Given the description of an element on the screen output the (x, y) to click on. 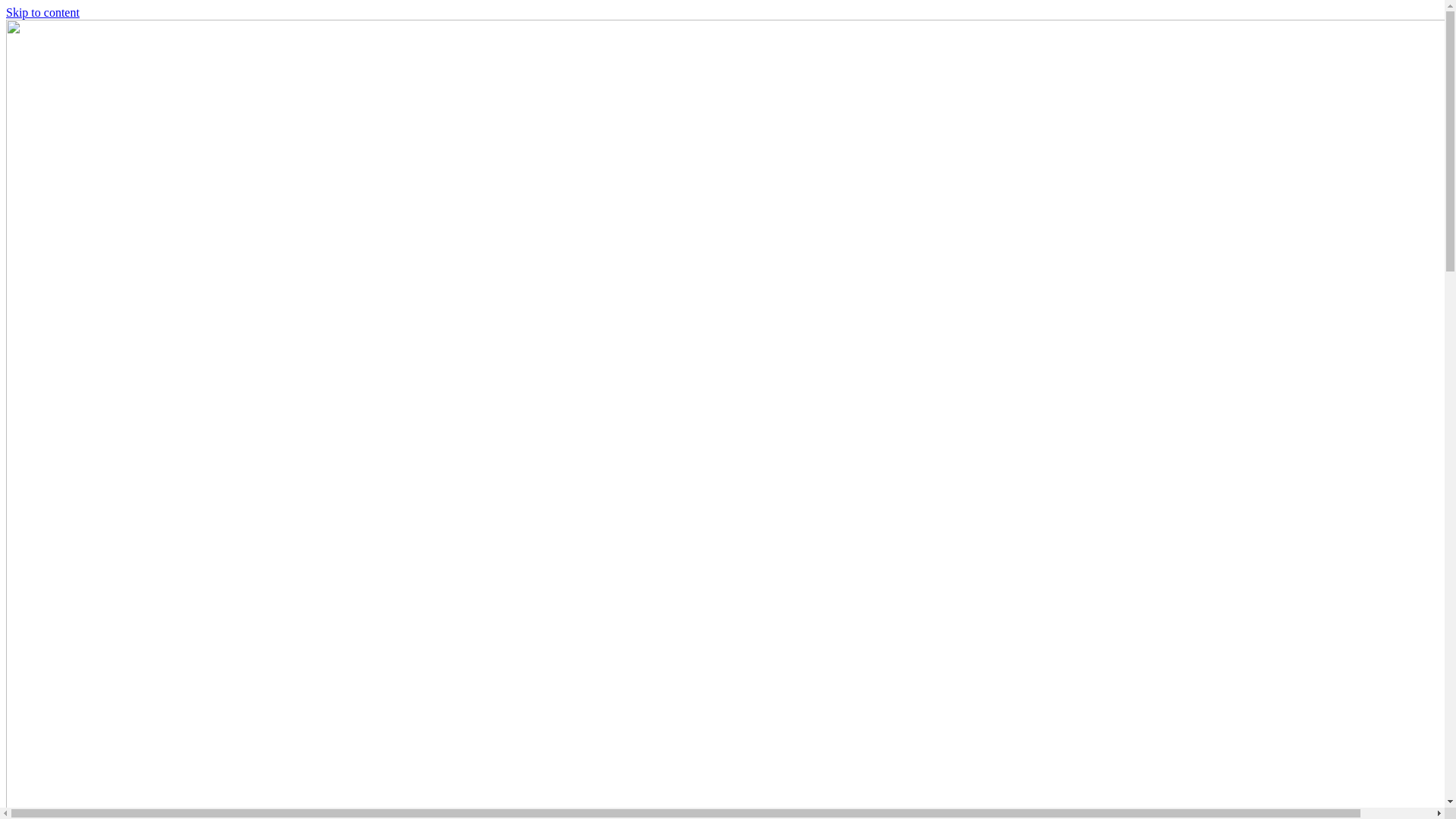
Skip to content Element type: text (42, 12)
